Given the description of an element on the screen output the (x, y) to click on. 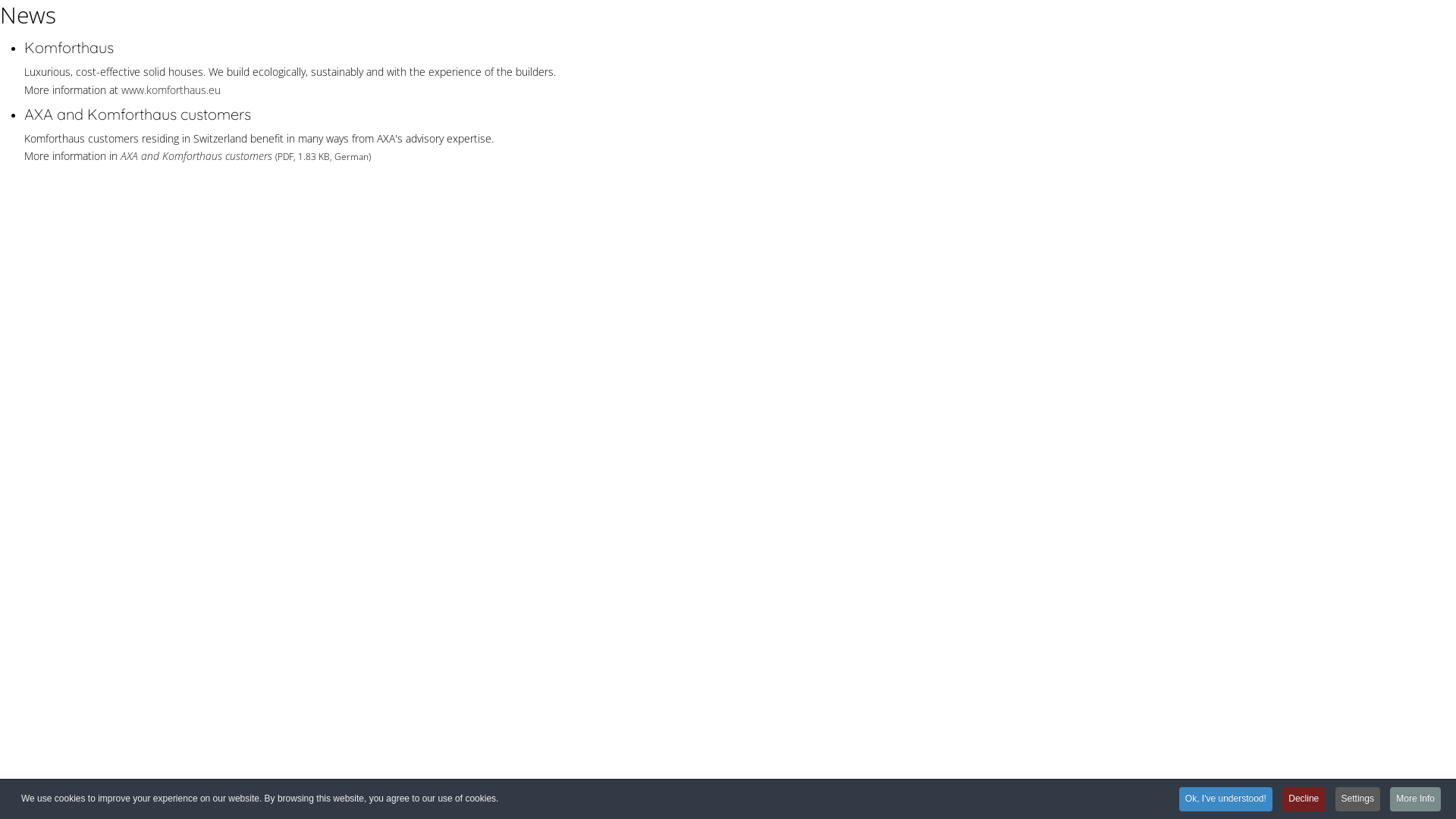
Settings Element type: text (1357, 799)
Decline All Cookies Element type: text (733, 542)
AXA and Komforthaus customers Element type: text (196, 155)
Save Settings Element type: text (871, 542)
www.komforthaus.eu Element type: text (170, 89)
More Info Element type: text (1415, 799)
Decline Element type: text (1303, 799)
1 Element type: text (691, 187)
Allow All Cookies Element type: text (594, 542)
Ok, I've understood! Element type: text (1225, 799)
